Given the description of an element on the screen output the (x, y) to click on. 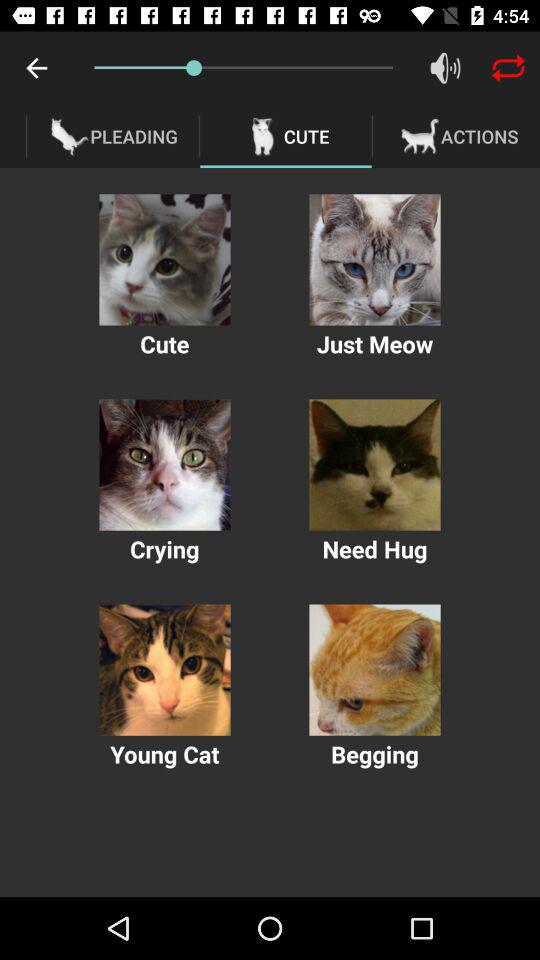
select option (374, 669)
